Given the description of an element on the screen output the (x, y) to click on. 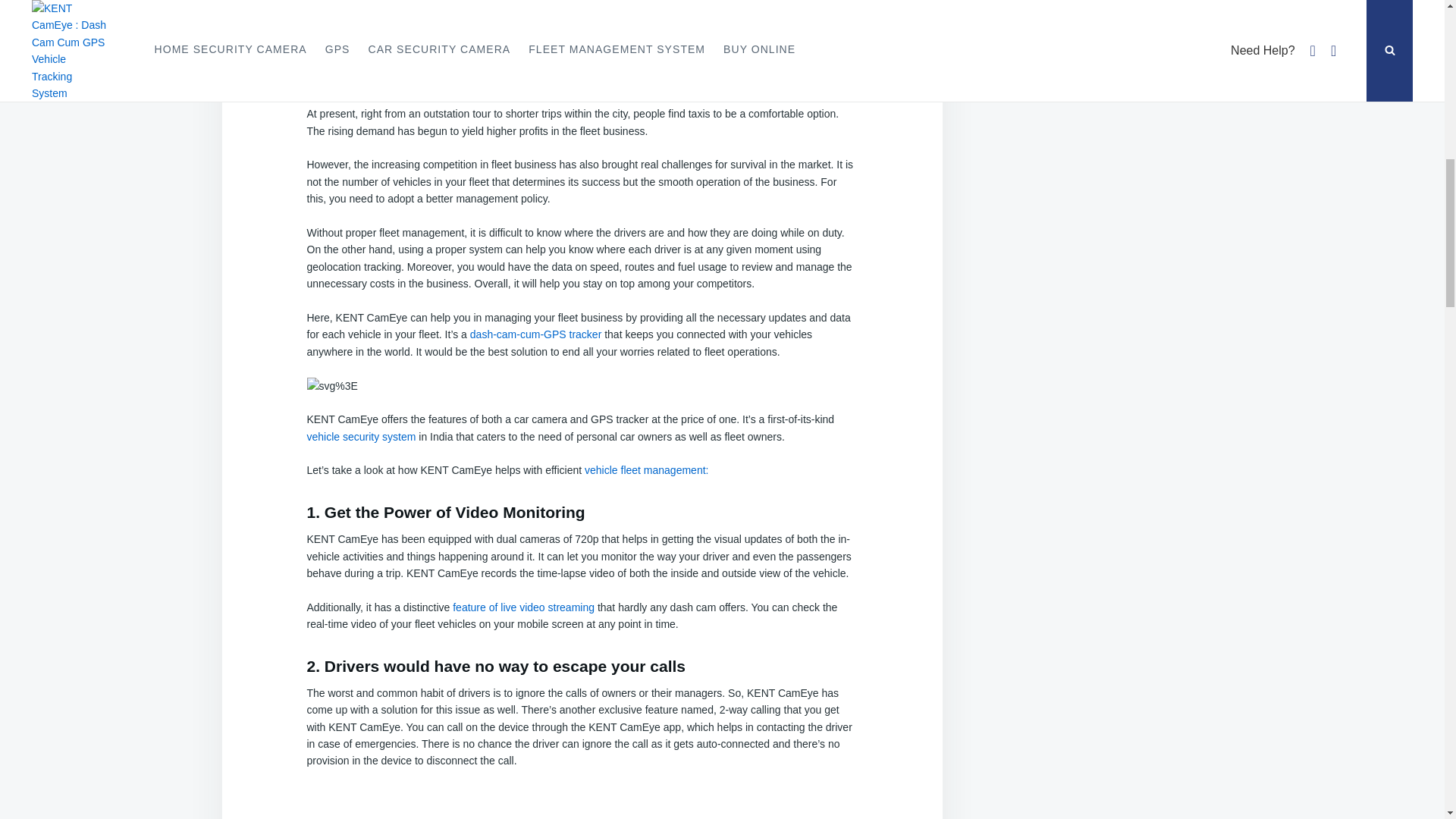
More (414, 6)
Linkedin (315, 6)
Facebook (355, 6)
vehicle fleet management: (646, 469)
dash-cam-cum-GPS tracker (535, 334)
rise in the fleet business (742, 80)
Email (335, 6)
Instagram (395, 6)
feature of live video streaming (523, 607)
vehicle security system (359, 436)
Twitter (375, 6)
